Given the description of an element on the screen output the (x, y) to click on. 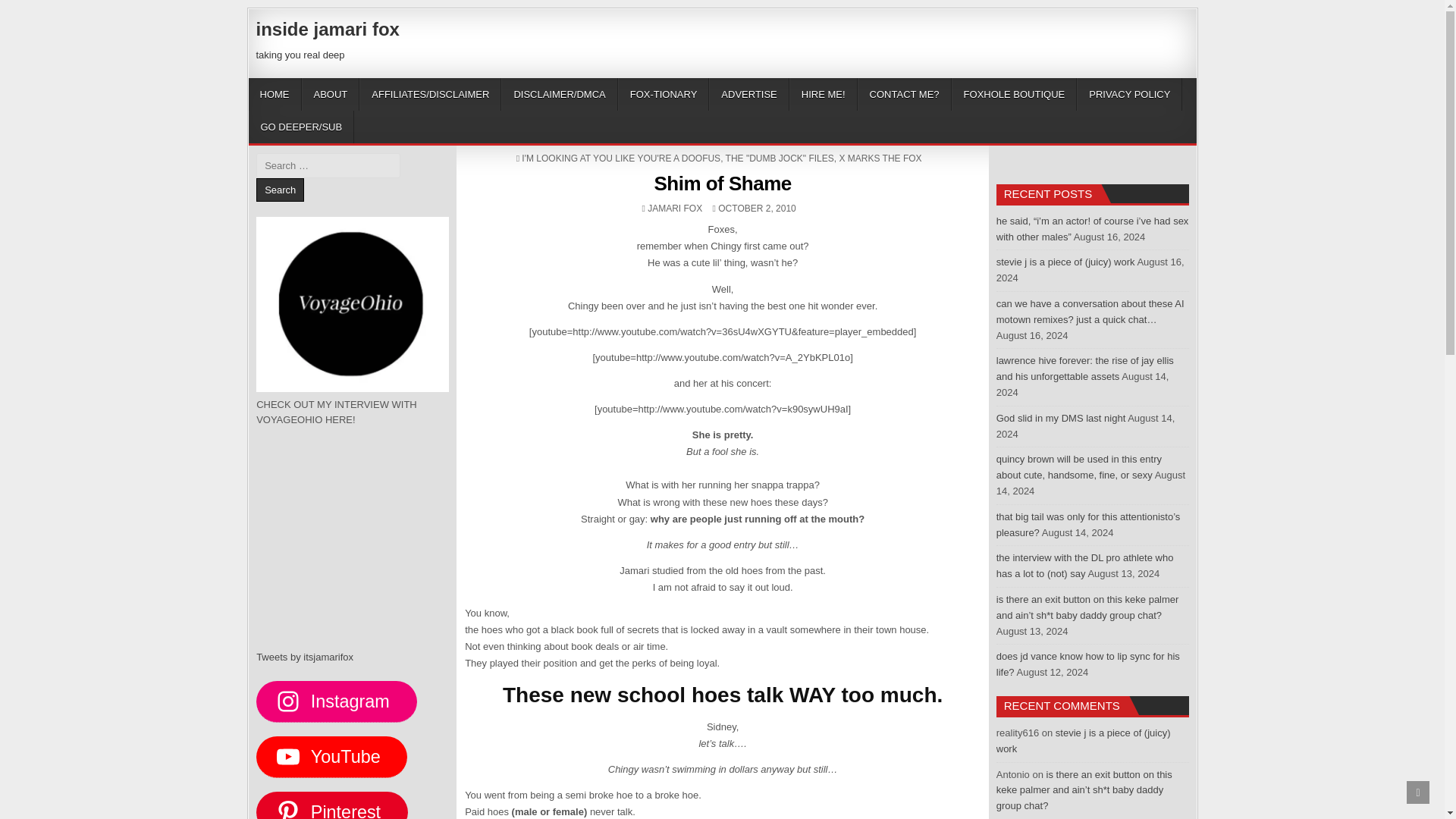
I'M LOOKING AT YOU LIKE YOU'RE A DOOFUS (620, 158)
THE "DUMB JOCK" FILES (779, 158)
HIRE ME! (823, 93)
X MARKS THE FOX (879, 158)
Search (280, 189)
CONTACT ME? (904, 93)
FOXHOLE BOUTIQUE (1014, 93)
ABOUT (330, 93)
Shim of Shame (721, 182)
inside jamari fox (327, 28)
